Given the description of an element on the screen output the (x, y) to click on. 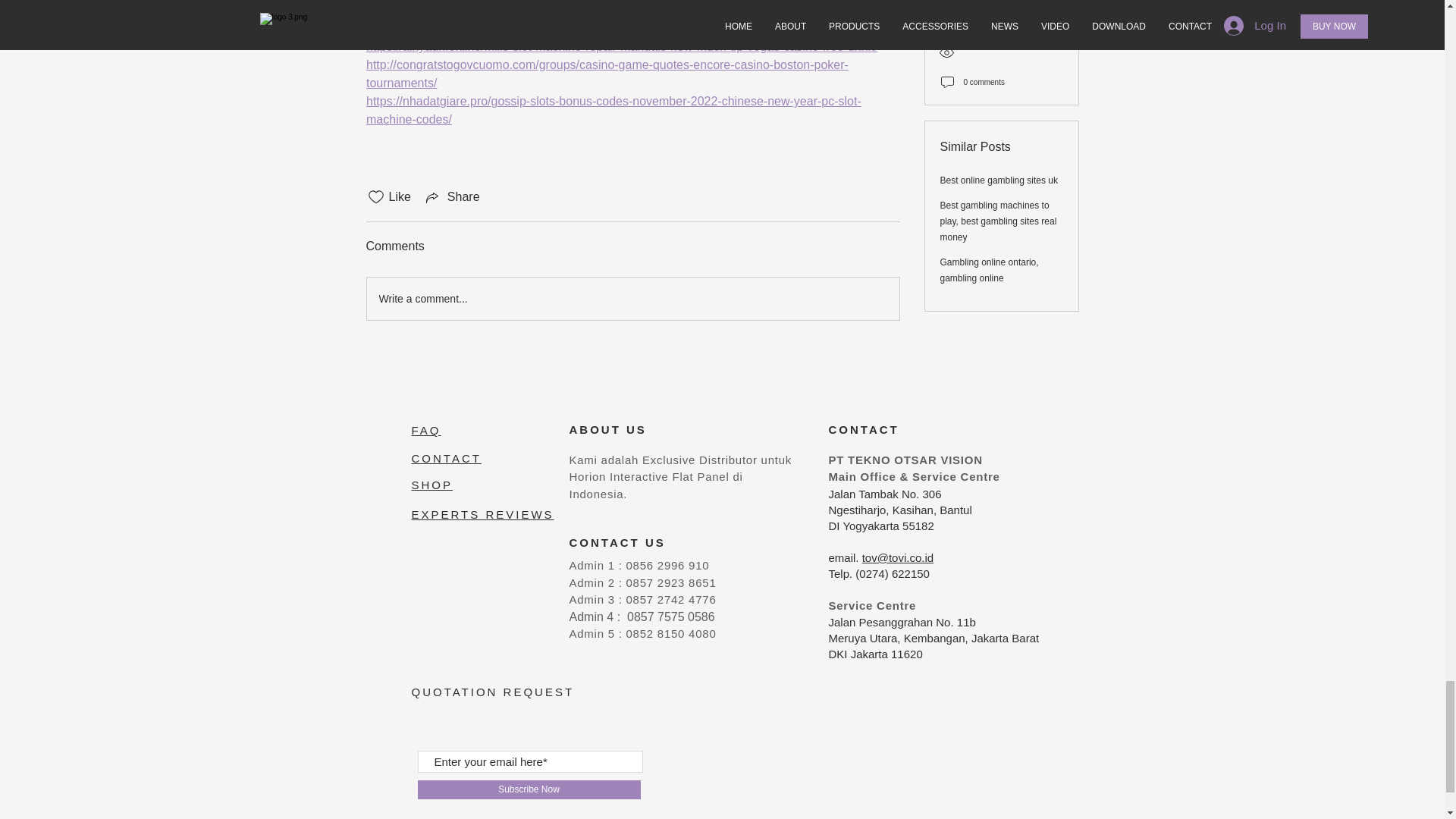
Write a comment... (632, 298)
CONTACT (445, 458)
SHOP (431, 484)
FAQ (425, 430)
EXPERTS REVIEWS (481, 513)
Share (451, 197)
Subscribe Now (528, 789)
